Given the description of an element on the screen output the (x, y) to click on. 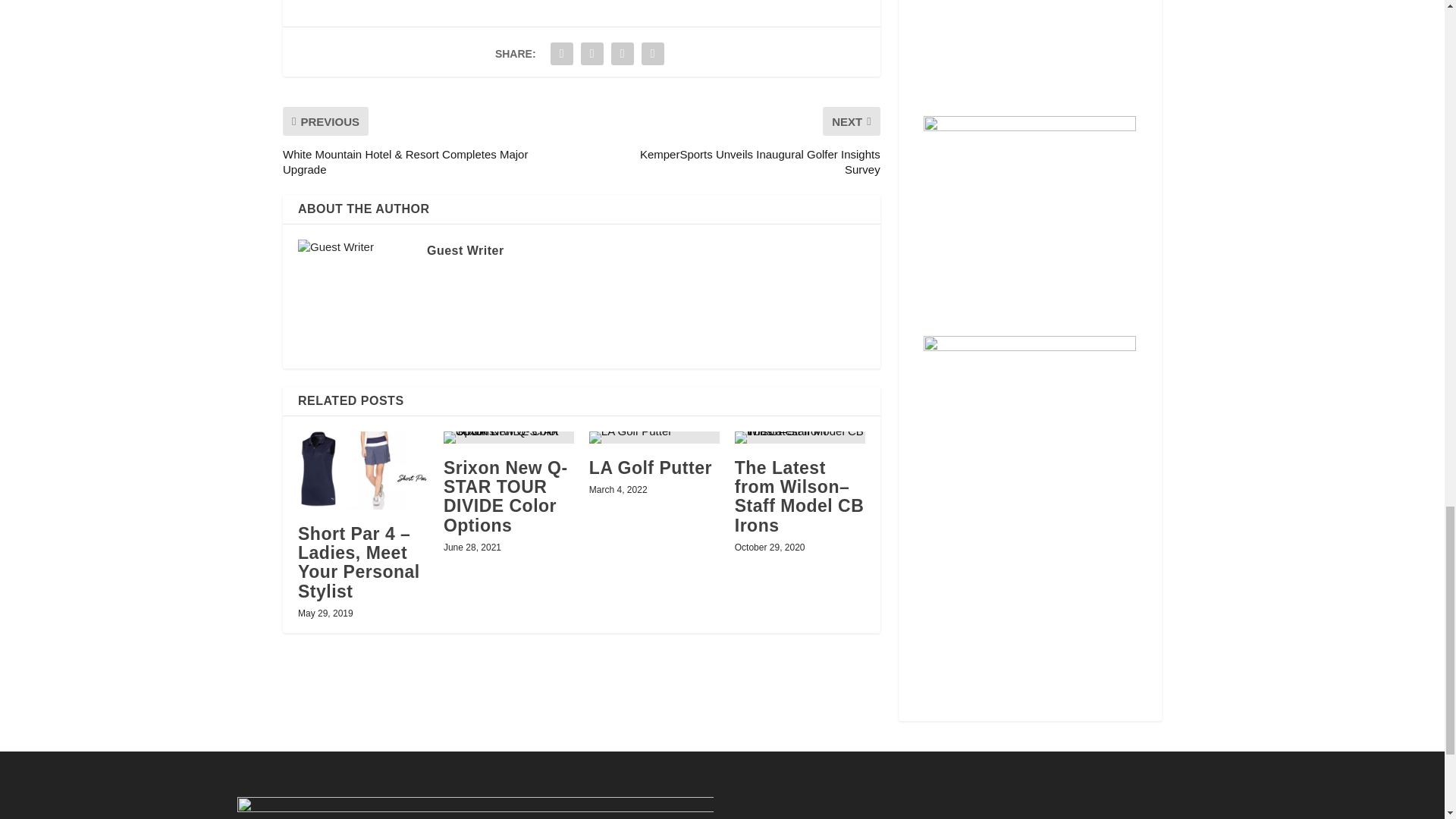
Share "Bella Collina Golf Academy" via LinkedIn (622, 53)
Share "Bella Collina Golf Academy" via Twitter (591, 53)
View all posts by Guest Writer (464, 250)
Srixon New Q-STAR TOUR DIVIDE Color Options (508, 437)
Share "Bella Collina Golf Academy" via Print (652, 53)
LA Golf Putter (654, 437)
Share "Bella Collina Golf Academy" via Facebook (561, 53)
